Given the description of an element on the screen output the (x, y) to click on. 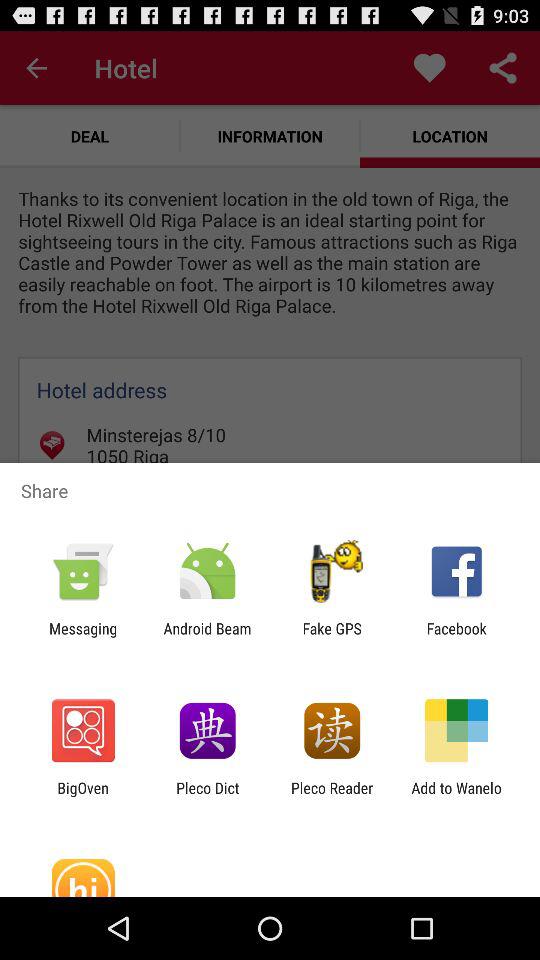
select the item to the right of the android beam (331, 637)
